Given the description of an element on the screen output the (x, y) to click on. 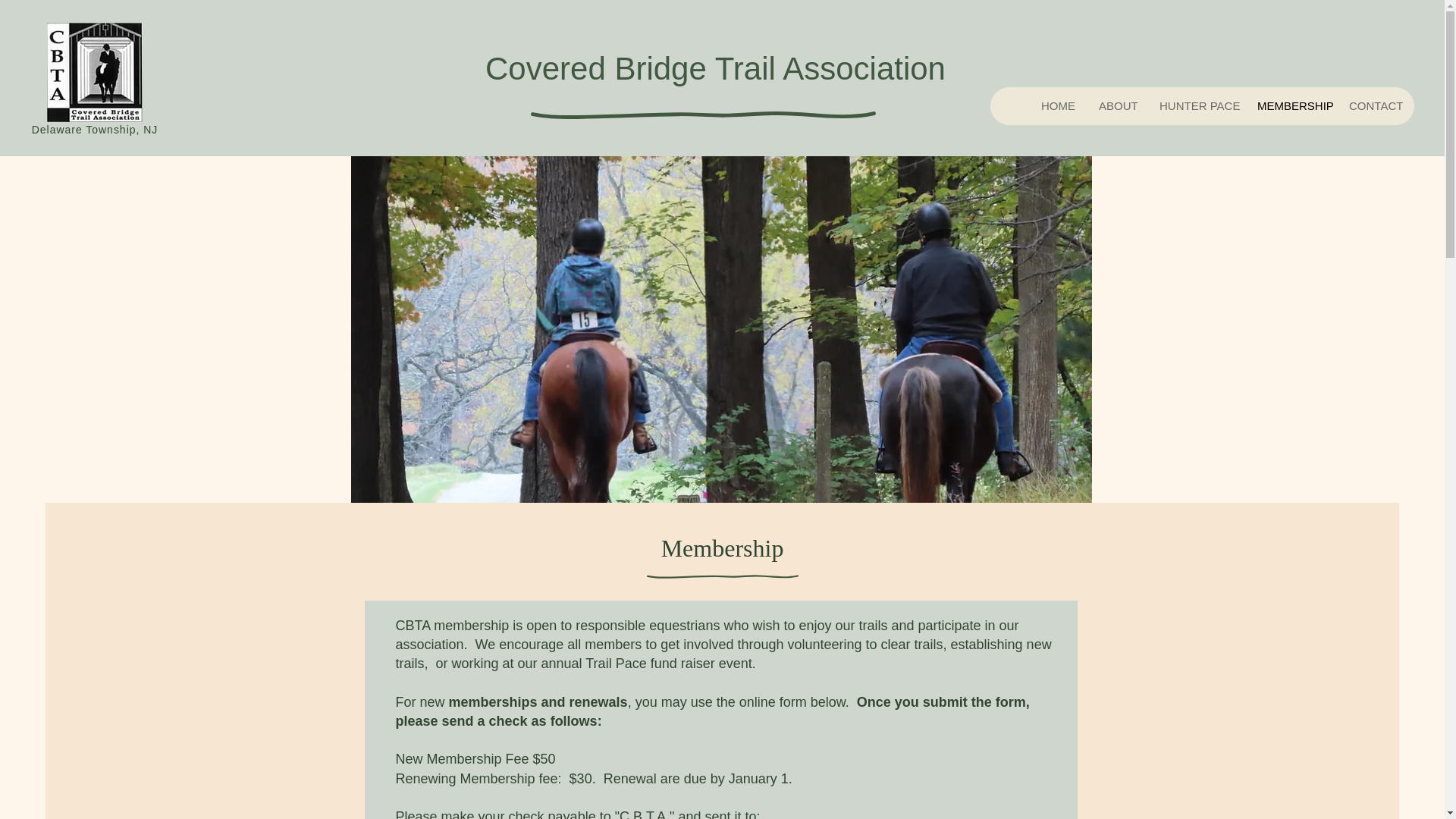
HOME (1057, 105)
Delaware Township, NJ (95, 129)
ABOUT (1116, 105)
CONTACT (1374, 105)
MEMBERSHIP (1290, 105)
HUNTER PACE (1195, 105)
